Given the description of an element on the screen output the (x, y) to click on. 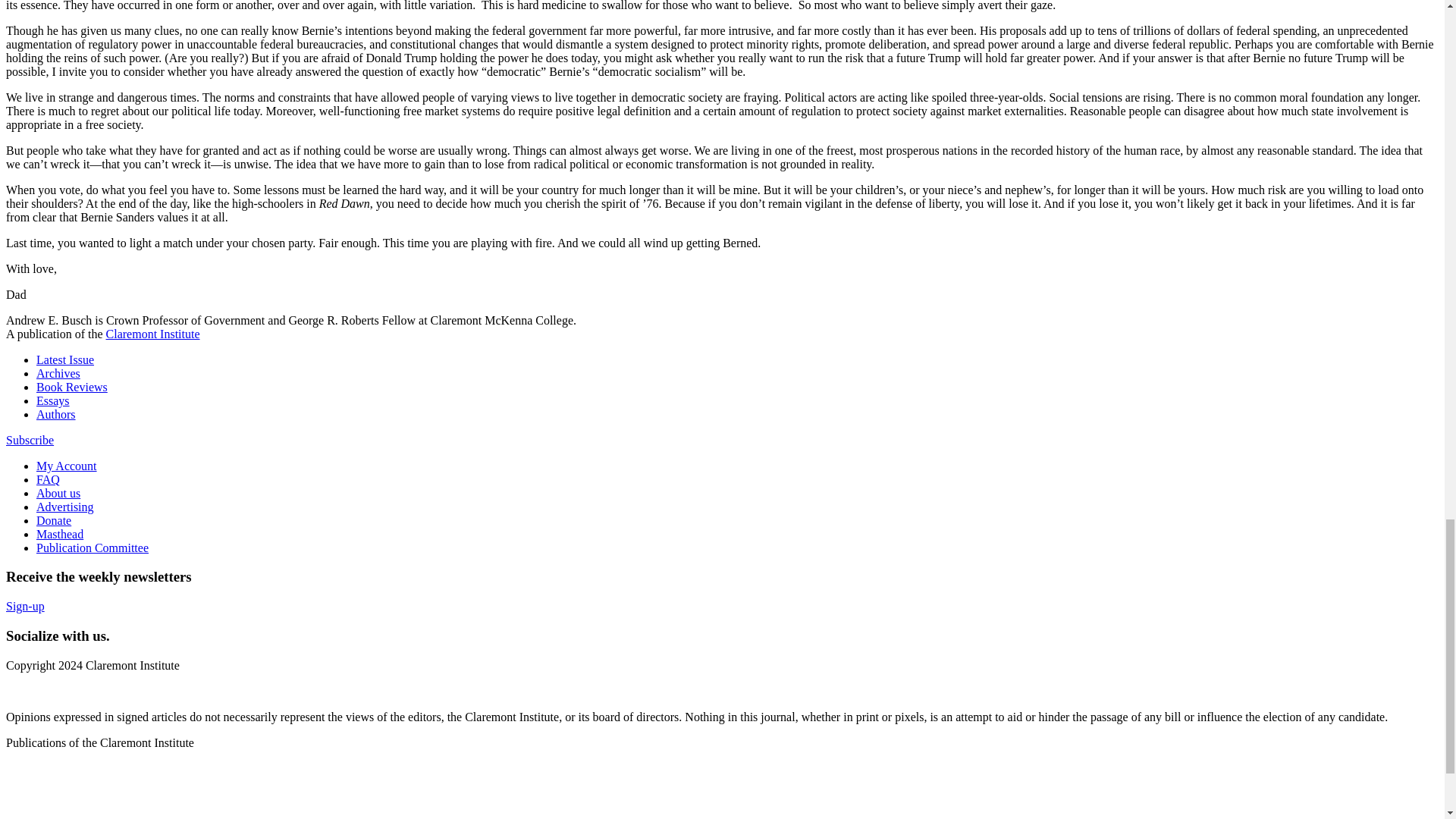
Book Reviews (71, 386)
Summer 2024 (65, 359)
Latest Issue (65, 359)
Archives (58, 373)
Claremont Institute (153, 333)
Essays (52, 400)
Authors (55, 413)
